Given the description of an element on the screen output the (x, y) to click on. 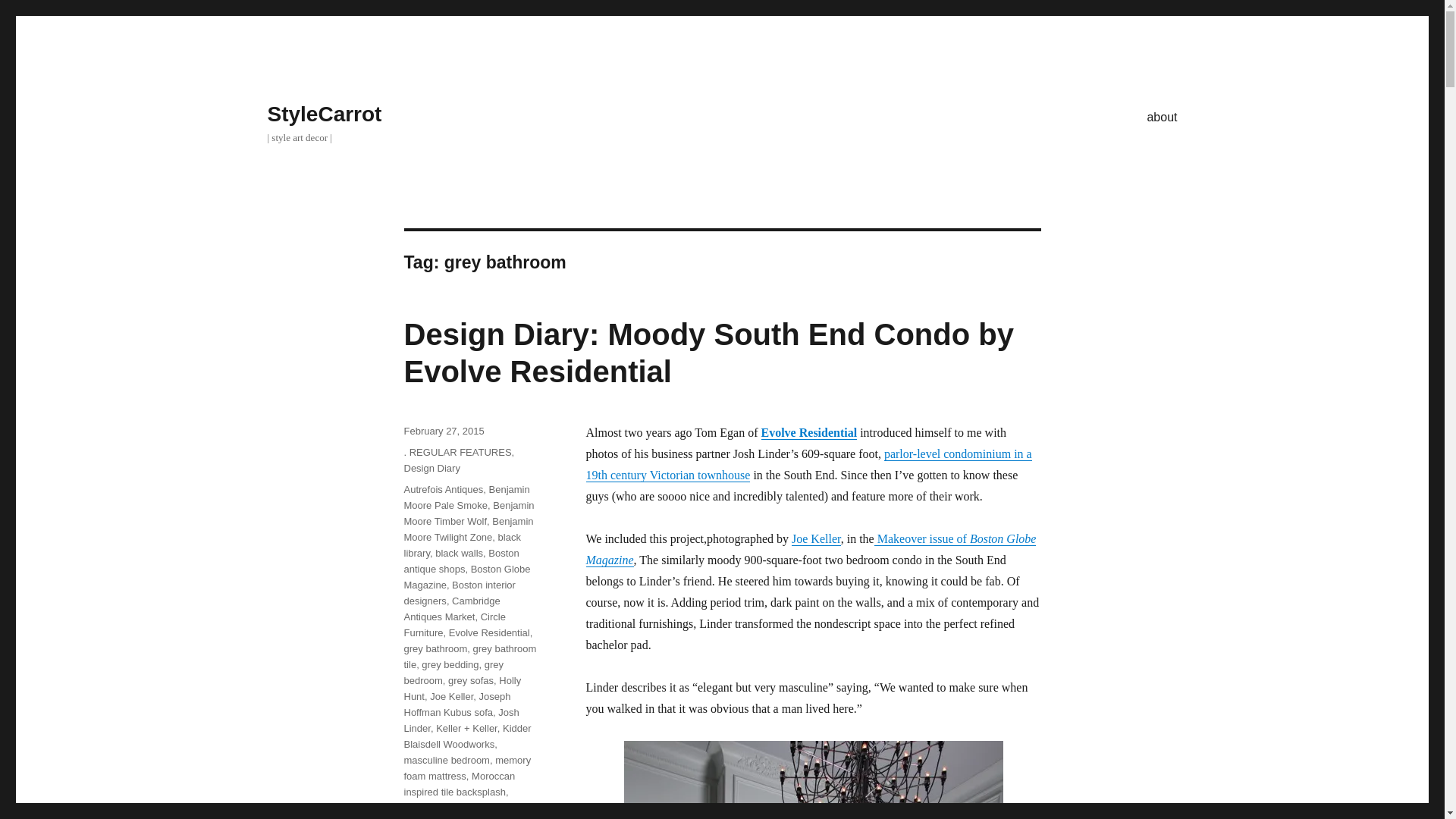
Joe Keller (816, 538)
Design Diary (431, 468)
Evolve Residential (809, 431)
black library (461, 544)
about (1161, 116)
Benjamin Moore Timber Wolf (468, 513)
. REGULAR FEATURES (457, 451)
Benjamin Moore Pale Smoke (466, 497)
Makeover issue of Boston Globe Magazine (810, 549)
black walls (459, 552)
StyleCarrot (323, 114)
Autrefois Antiques (443, 489)
February 27, 2015 (443, 430)
Benjamin Moore Twilight Zone (467, 528)
